Given the description of an element on the screen output the (x, y) to click on. 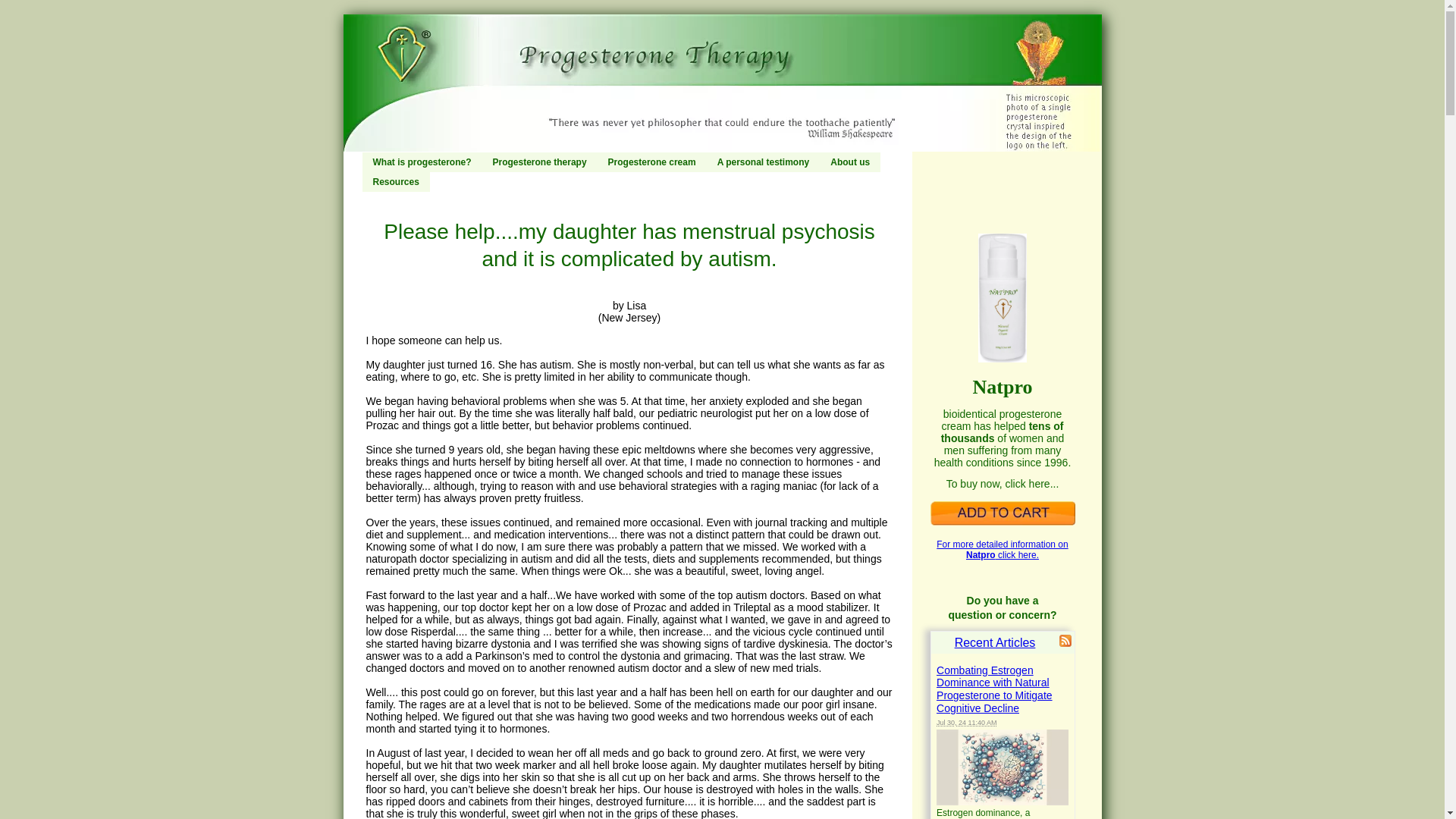
2024-07-30T11:40:51-0400 (966, 722)
Natpro progesterone cream (1002, 513)
